Given the description of an element on the screen output the (x, y) to click on. 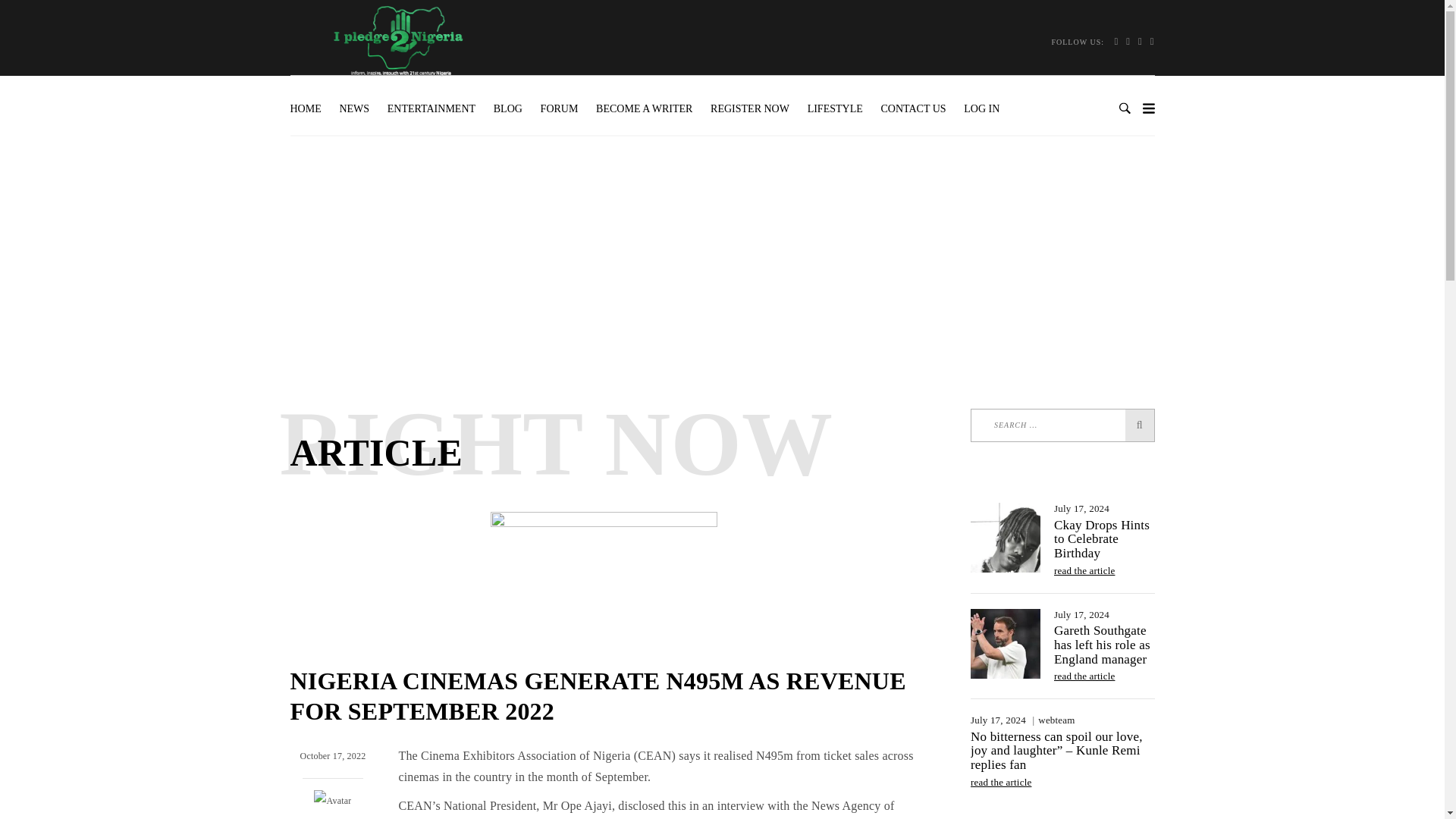
BECOME A WRITER (644, 108)
BLOG (507, 108)
REGISTER NOW (749, 108)
NEWS (354, 108)
FORUM (559, 108)
LIFESTYLE (834, 108)
webteam (332, 818)
LOG IN (981, 108)
CONTACT US (912, 108)
ENTERTAINMENT (431, 108)
HOME (309, 108)
